Given the description of an element on the screen output the (x, y) to click on. 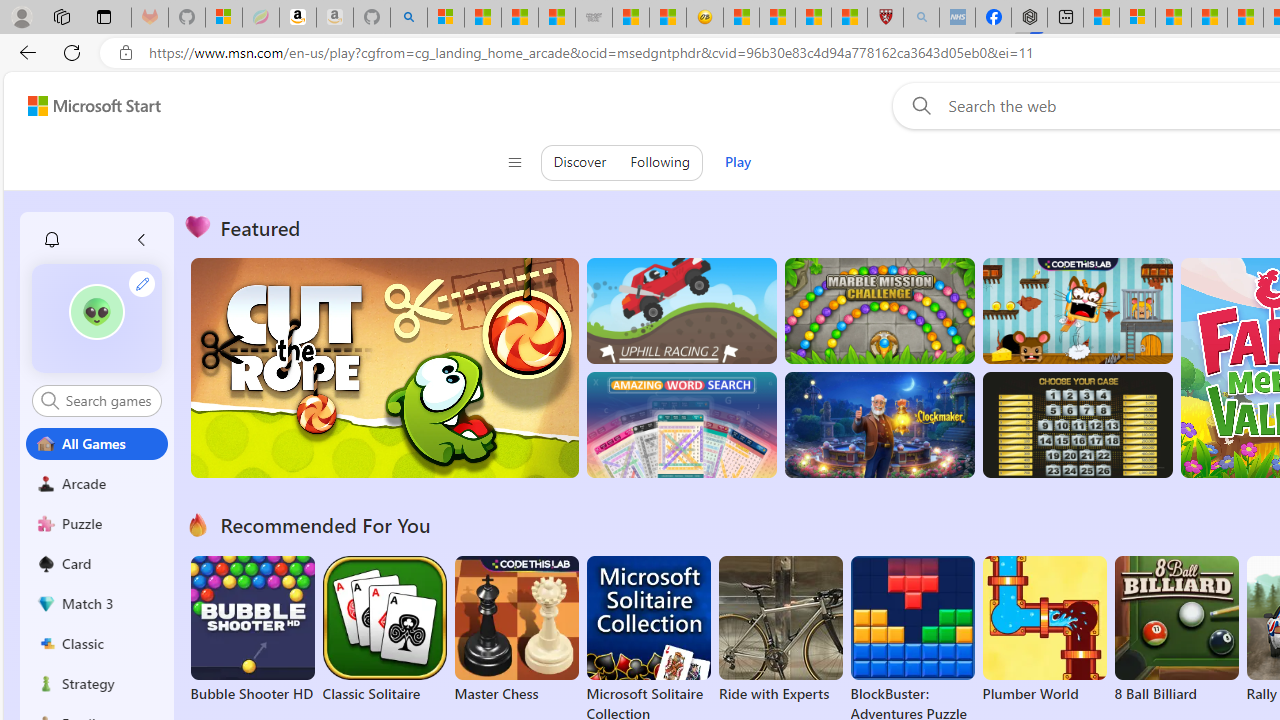
Clockmaker (879, 425)
Deal or No Deal (1076, 425)
Web search (917, 105)
Science - MSN (813, 17)
Nordace - Nordace Siena Is Not An Ordinary Backpack (1029, 17)
8 Ball Billiard (1176, 629)
12 Popular Science Lies that Must be Corrected (849, 17)
""'s avatar (96, 312)
